Given the description of an element on the screen output the (x, y) to click on. 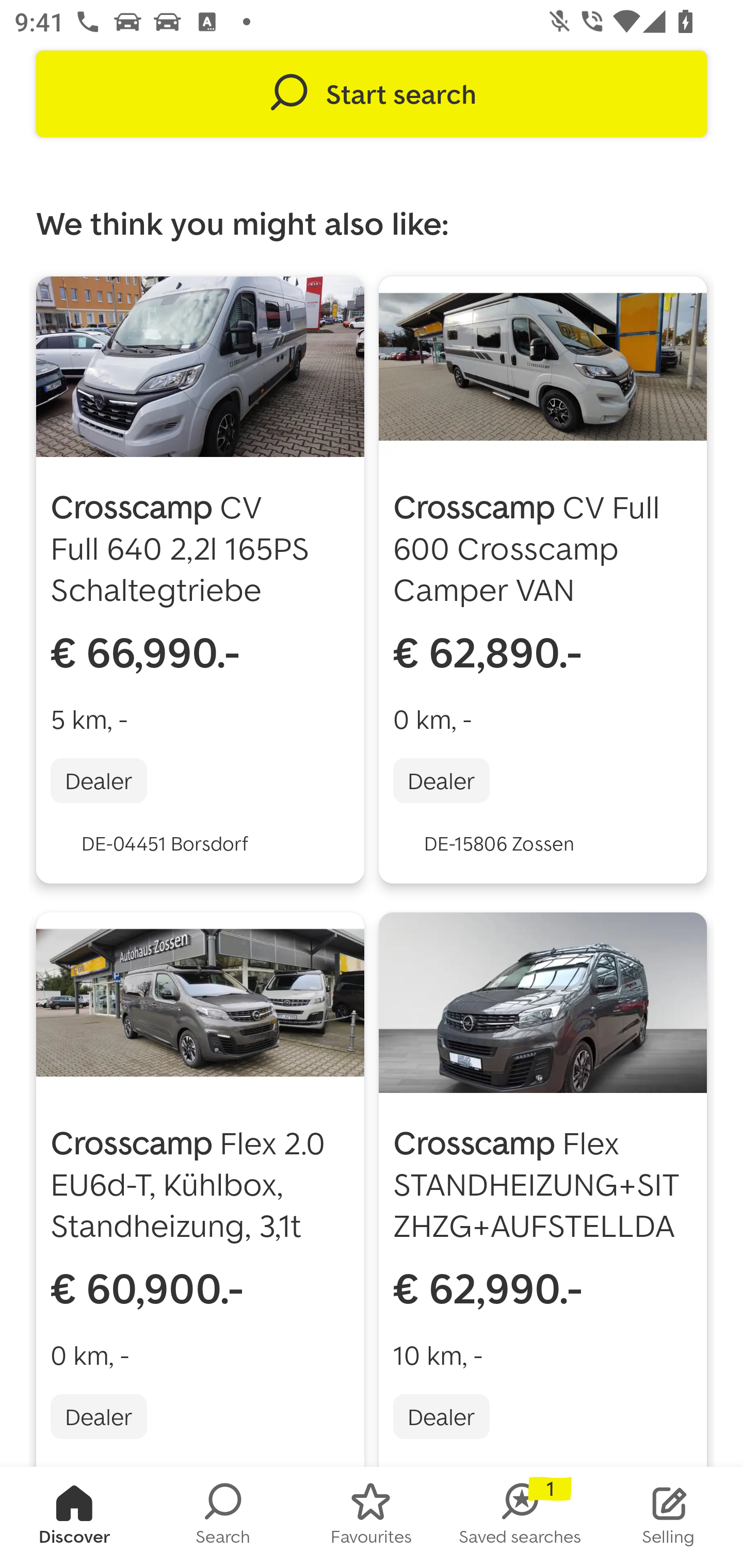
Start search (371, 93)
HOMESCREEN Discover (74, 1517)
SEARCH Search (222, 1517)
FAVORITES Favourites (371, 1517)
SAVED_SEARCHES Saved searches 1 (519, 1517)
STOCK_LIST Selling (668, 1517)
